Given the description of an element on the screen output the (x, y) to click on. 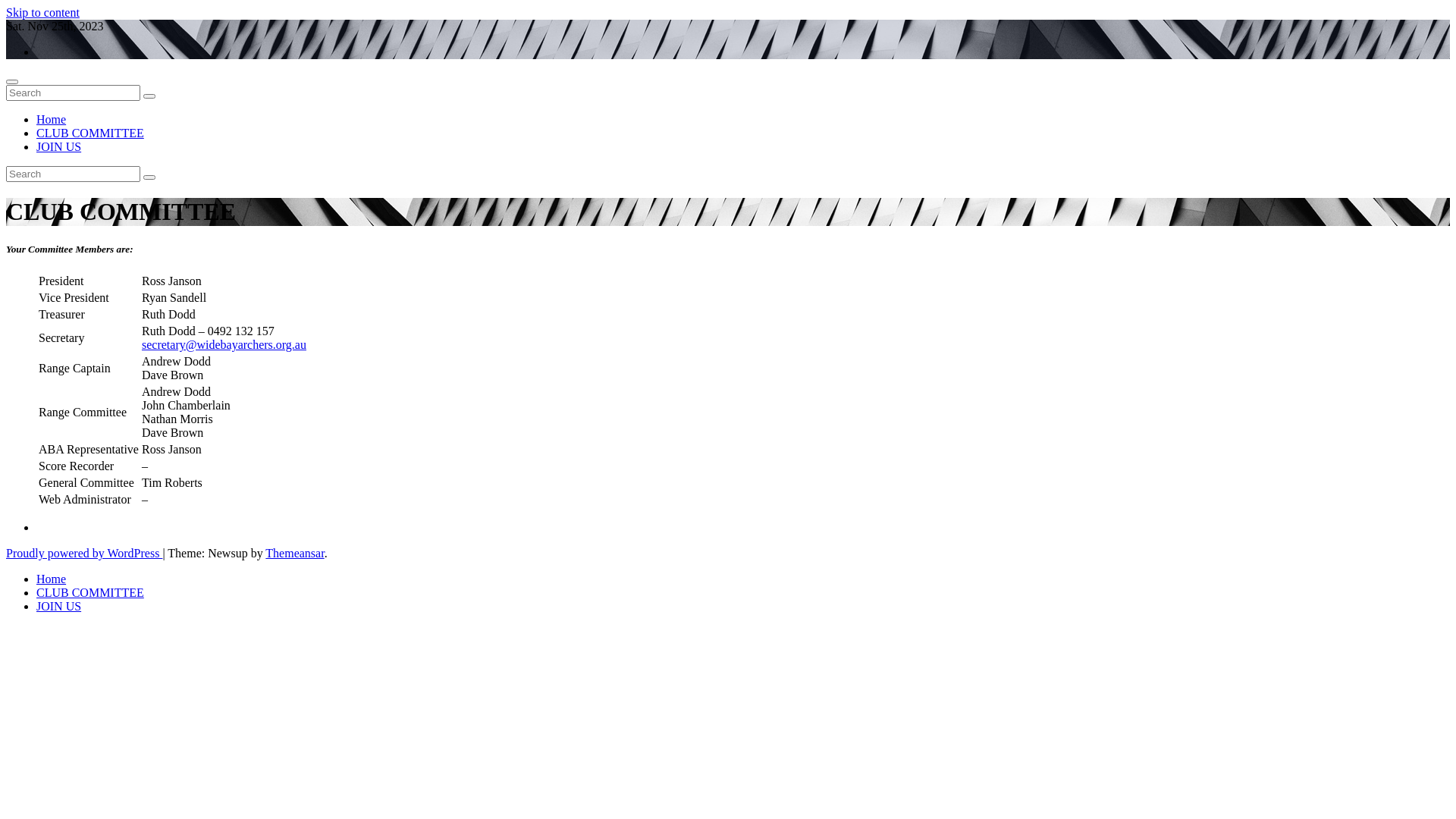
JOIN US Element type: text (58, 605)
Proudly powered by WordPress Element type: text (84, 552)
Skip to content Element type: text (42, 12)
Home Element type: text (50, 578)
JOIN US Element type: text (58, 146)
secretary@widebayarchers.org.au Element type: text (223, 344)
Themeansar Element type: text (294, 552)
CLUB COMMITTEE Element type: text (90, 592)
Home Element type: text (50, 118)
CLUB COMMITTEE Element type: text (90, 132)
